Given the description of an element on the screen output the (x, y) to click on. 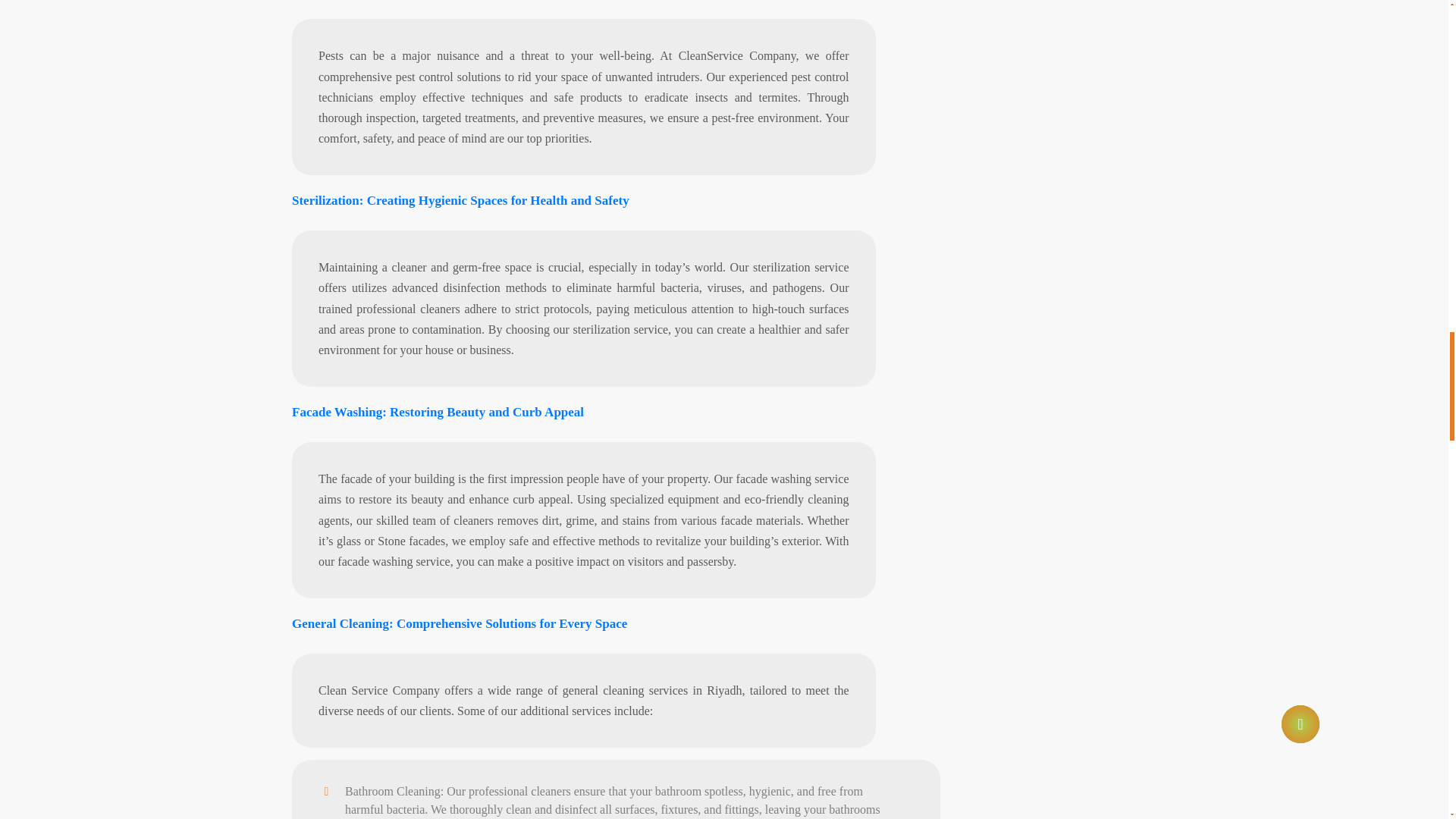
General Cleaning: Comprehensive Solutions for Every Space (459, 623)
Facade Washing: Restoring Beauty and Curb Appeal (437, 411)
